Given the description of an element on the screen output the (x, y) to click on. 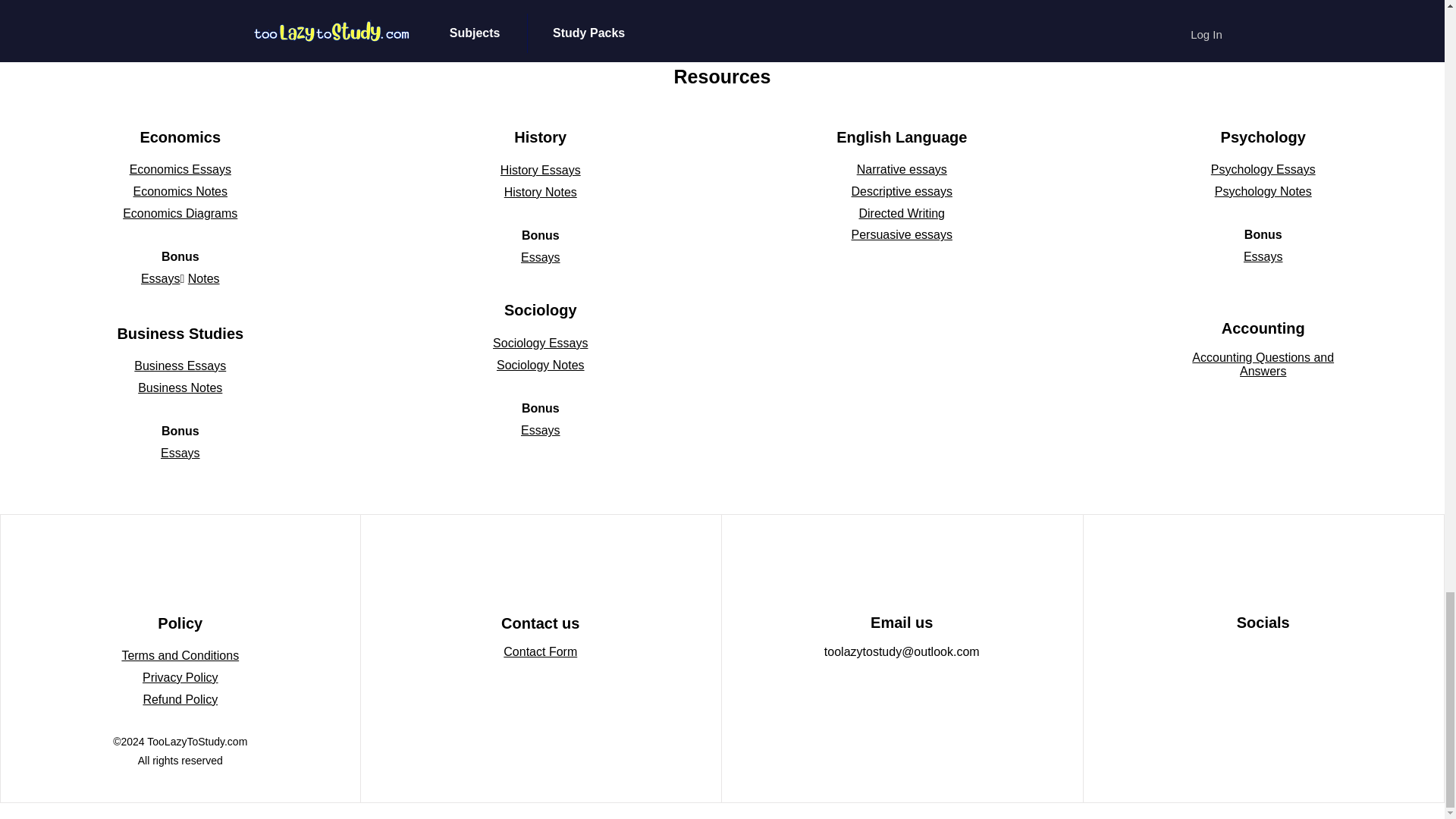
Essays (180, 452)
Economics Diagrams (179, 213)
Essays (540, 256)
History Essays (540, 169)
Sociology Essays (540, 342)
History Notes (539, 192)
Economics Notes (180, 191)
Economics Essays (180, 169)
Essays (540, 430)
Business Notes (180, 387)
